Given the description of an element on the screen output the (x, y) to click on. 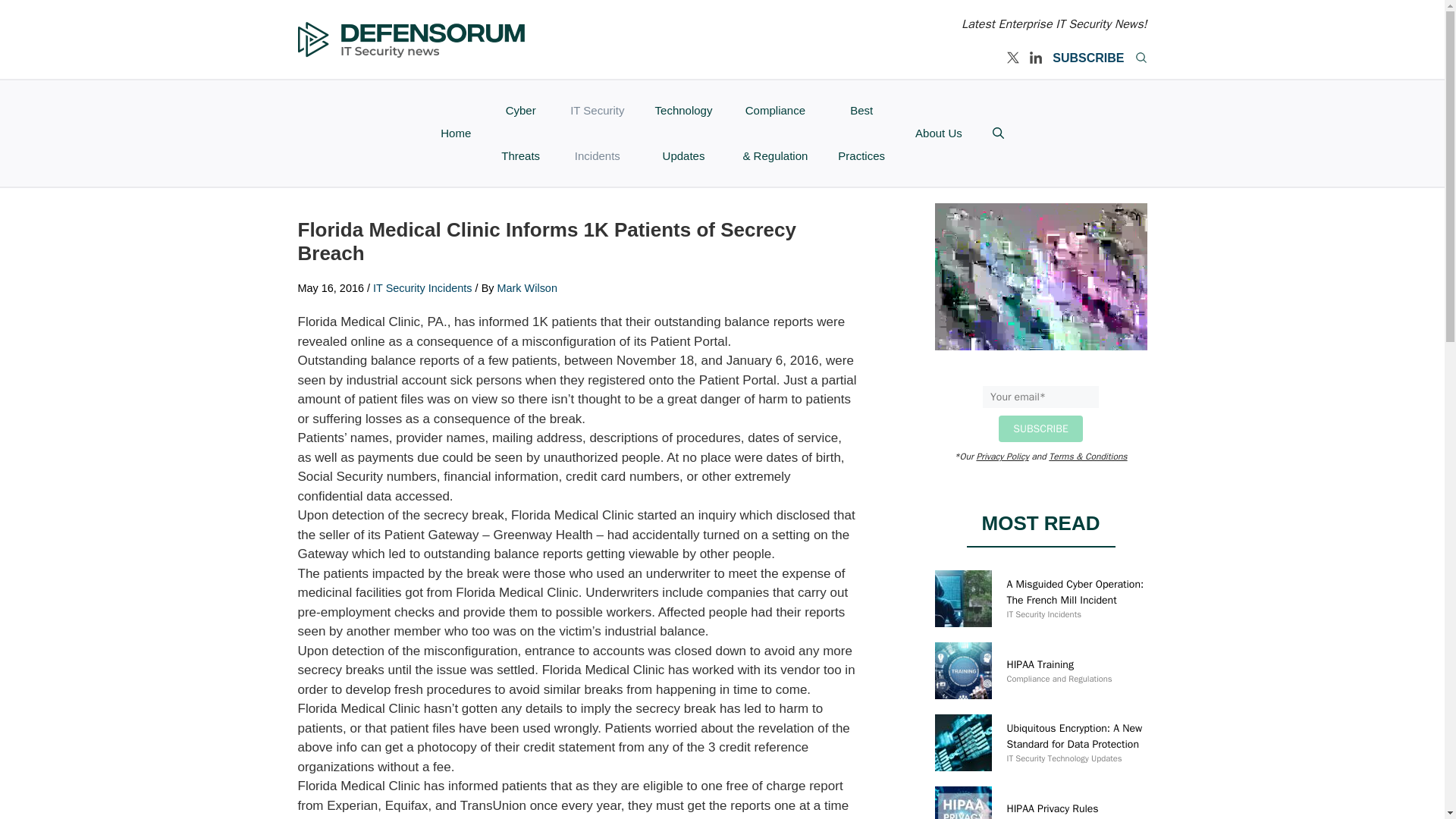
Mark Wilson (527, 287)
Subscribe (1039, 428)
Search (1140, 57)
Compliance and Regulations (1059, 678)
View all posts by Mark Wilson (527, 287)
SUBSCRIBE (1088, 57)
Twitter (1013, 57)
Ubiquitous Encryption: A New Standard for Data Protection (1074, 736)
HIPAA Training (1040, 664)
Subscribe (1039, 428)
IT Security Incidents (1044, 614)
Home (455, 133)
About Us (937, 133)
IT Security Incidents (421, 287)
Subscribe to newsletter (1088, 57)
